Given the description of an element on the screen output the (x, y) to click on. 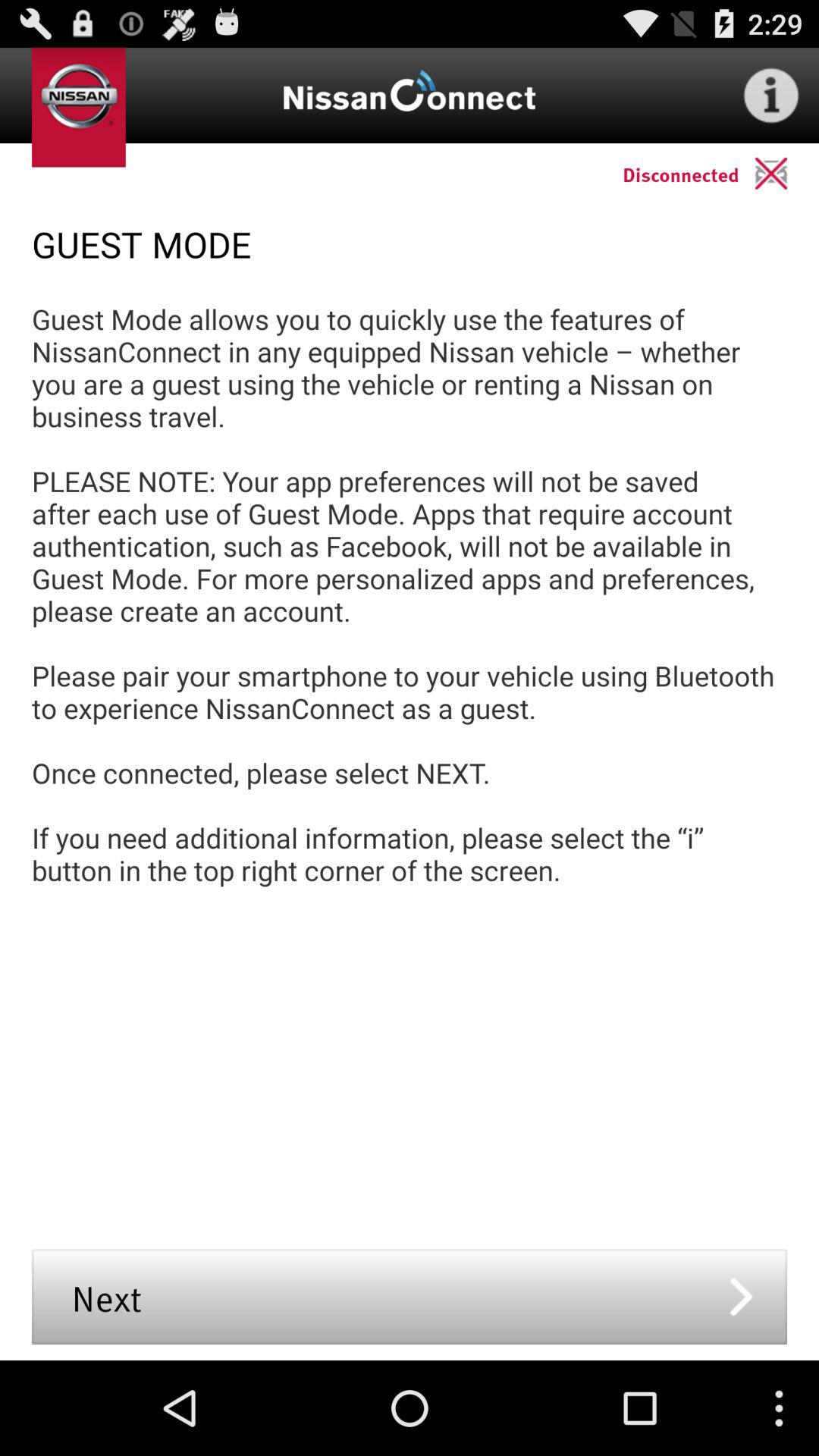
choose the app above disconnected item (771, 95)
